Given the description of an element on the screen output the (x, y) to click on. 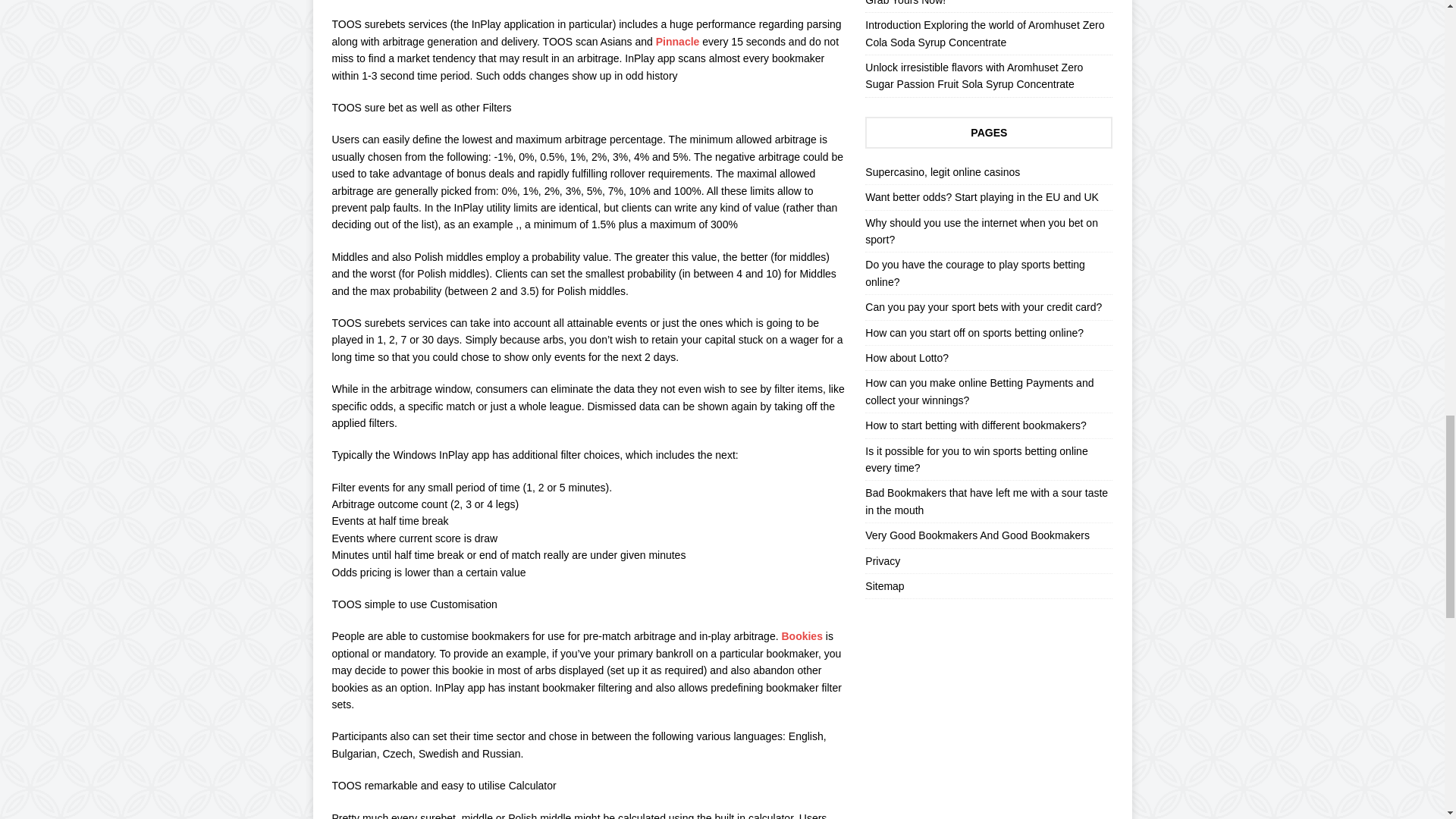
Bookies (801, 635)
Pinnacle (678, 41)
